Given the description of an element on the screen output the (x, y) to click on. 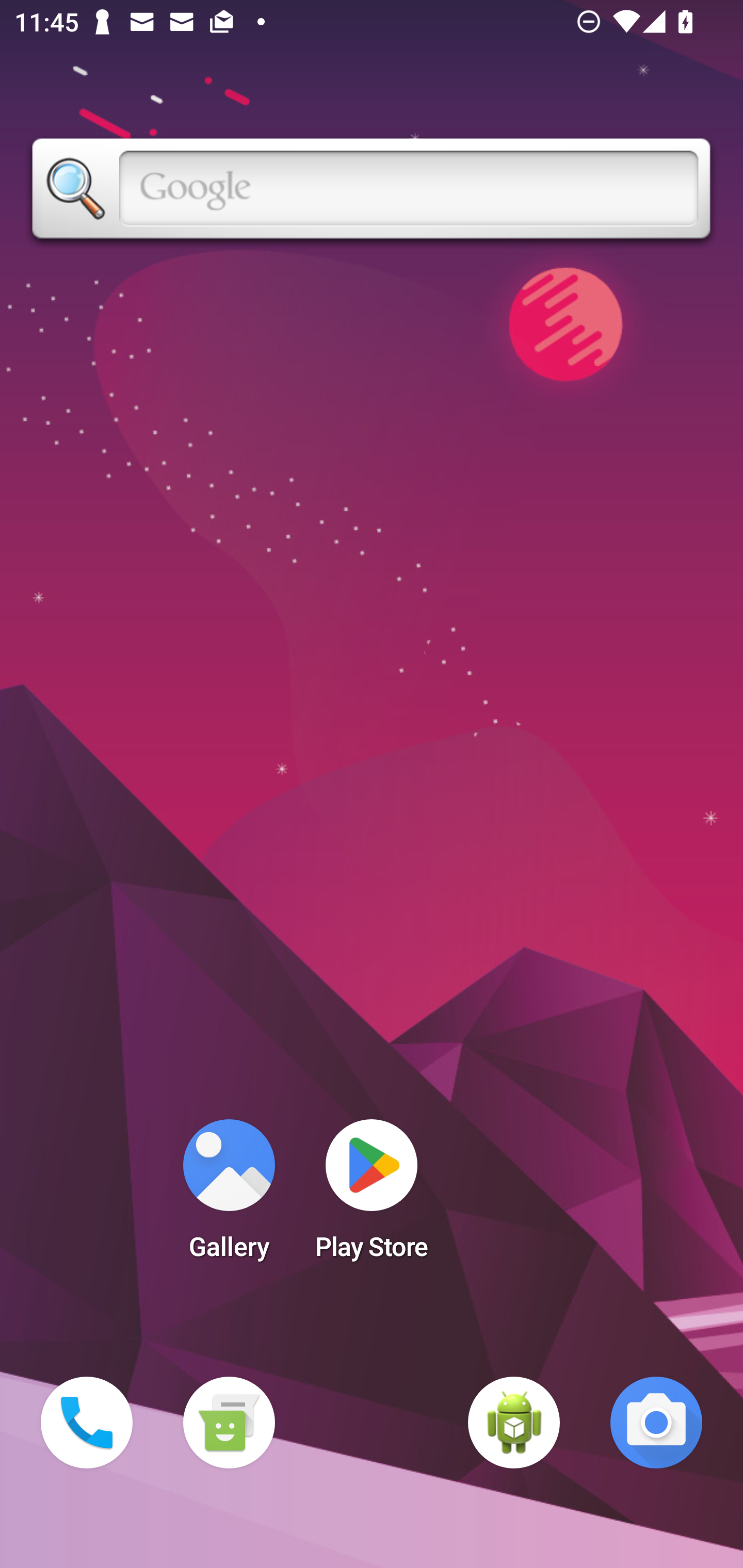
Gallery (228, 1195)
Play Store (371, 1195)
Phone (86, 1422)
Messaging (228, 1422)
WebView Browser Tester (513, 1422)
Camera (656, 1422)
